Given the description of an element on the screen output the (x, y) to click on. 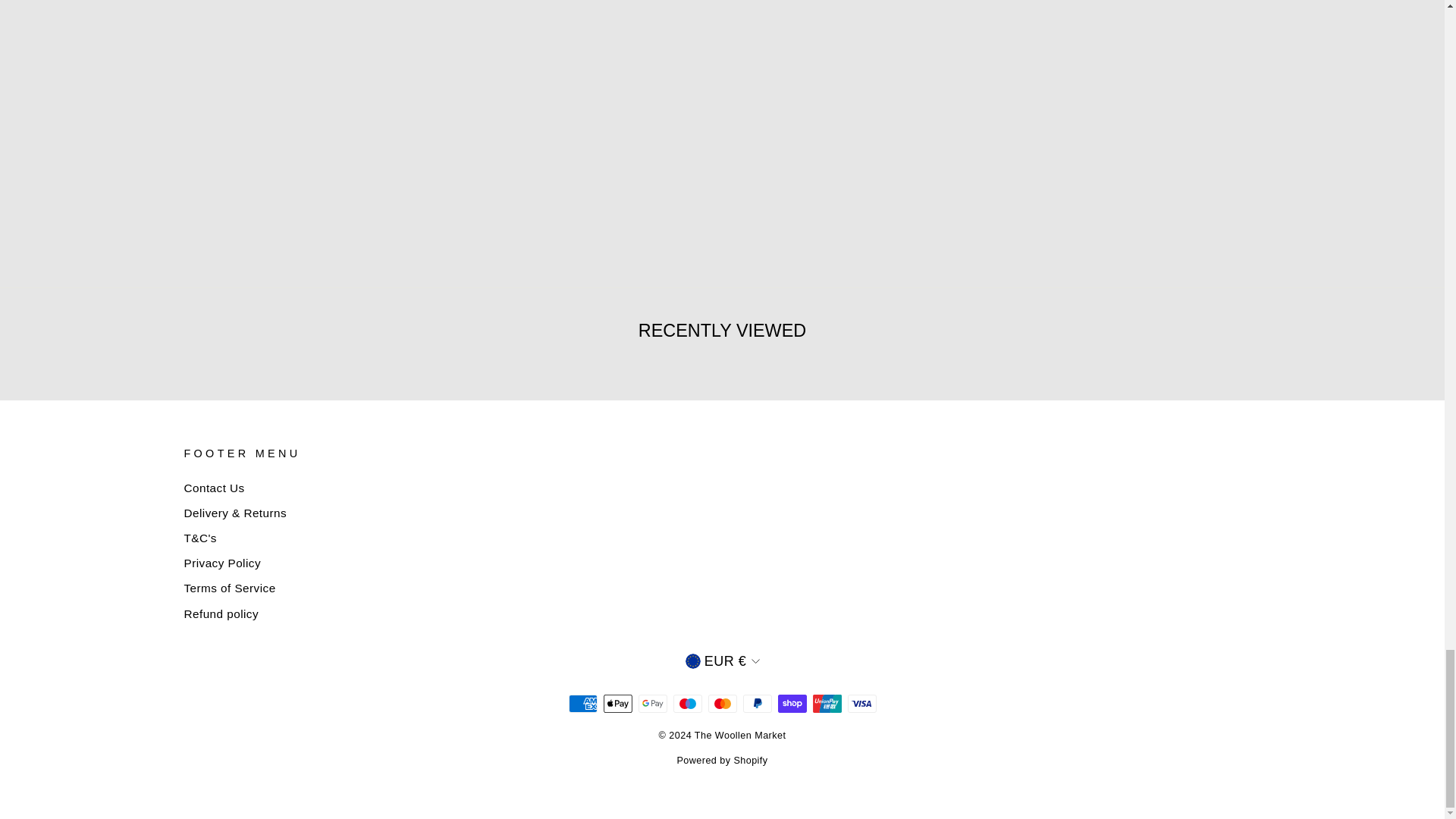
American Express (582, 703)
Apple Pay (617, 703)
